Given the description of an element on the screen output the (x, y) to click on. 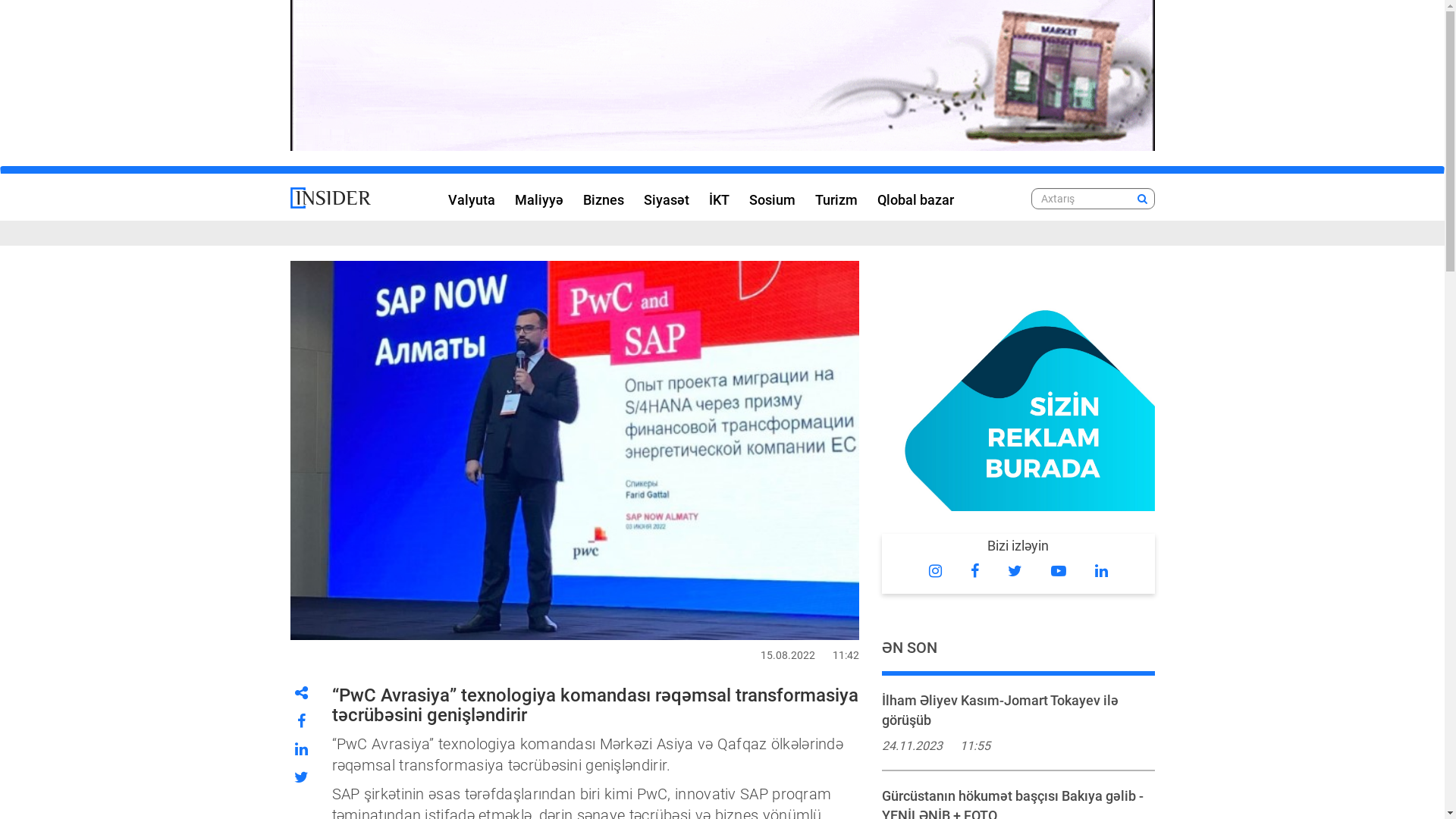
Biznes Element type: text (603, 196)
Sosium Element type: text (771, 196)
Valyuta Element type: text (471, 196)
Turizm Element type: text (836, 196)
Qlobal bazar Element type: text (915, 196)
